Given the description of an element on the screen output the (x, y) to click on. 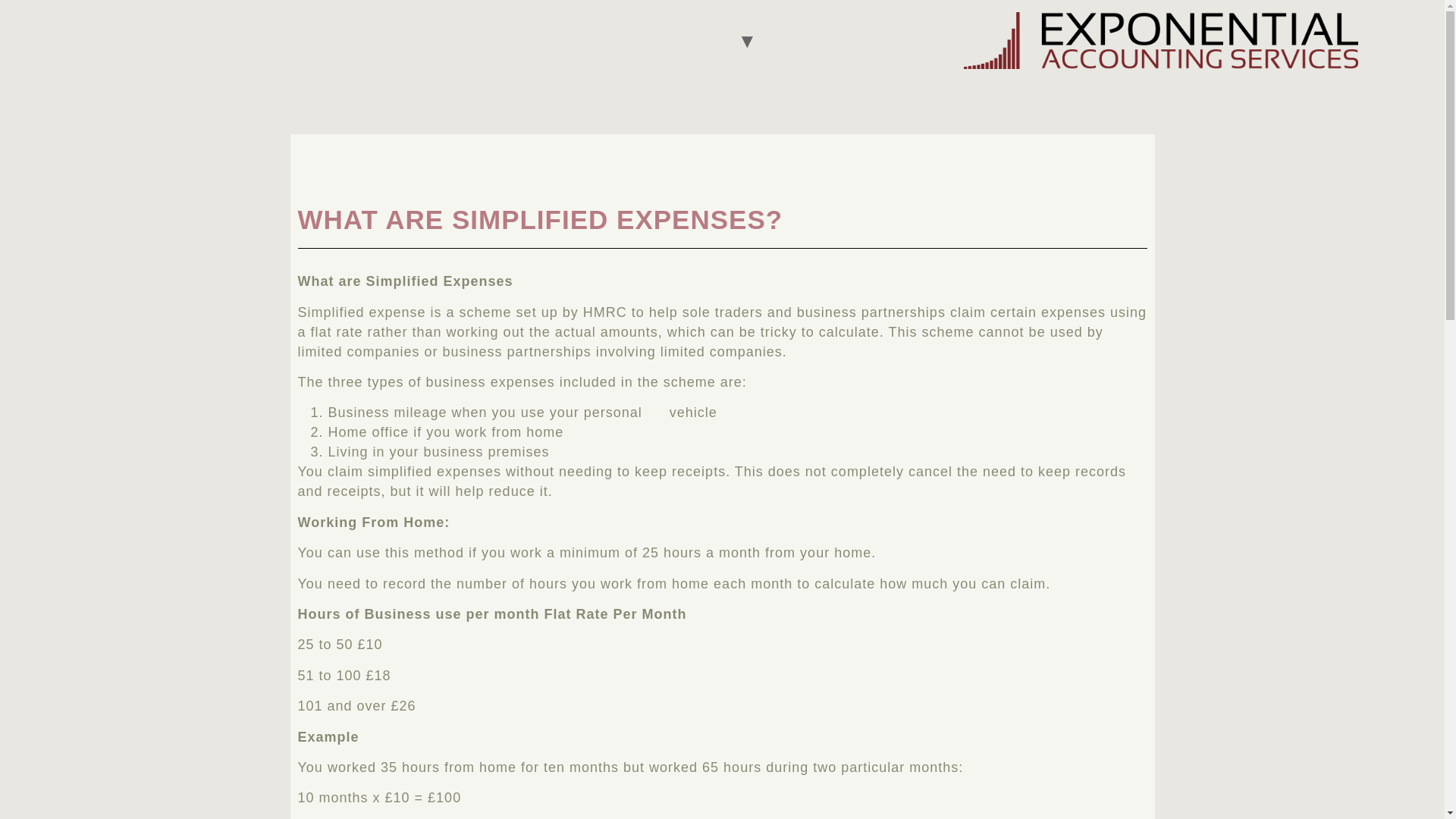
MORE (704, 40)
RESOURCES (521, 40)
CONTACT (404, 40)
ABOUT (199, 40)
BLOGS (627, 40)
SERVICES (296, 40)
HOME (121, 40)
